Given the description of an element on the screen output the (x, y) to click on. 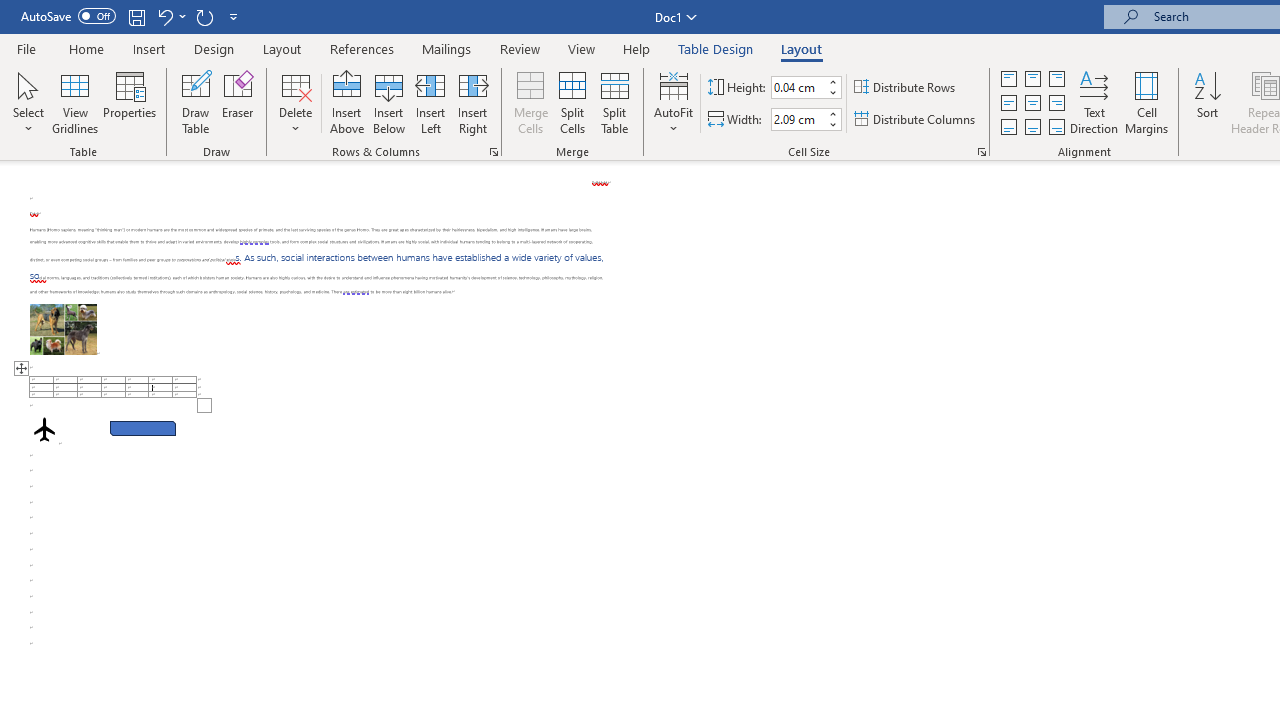
Eraser (237, 102)
Table Row Height (797, 87)
Morphological variation in six dogs (63, 328)
Table Design (715, 48)
Insert Below (388, 102)
Align Center Right (1056, 103)
Align Top Justified (1009, 78)
Mailings (447, 48)
Properties... (981, 151)
Help (637, 48)
Insert Left (430, 102)
Table Column Width (797, 119)
Sort... (1207, 102)
